Given the description of an element on the screen output the (x, y) to click on. 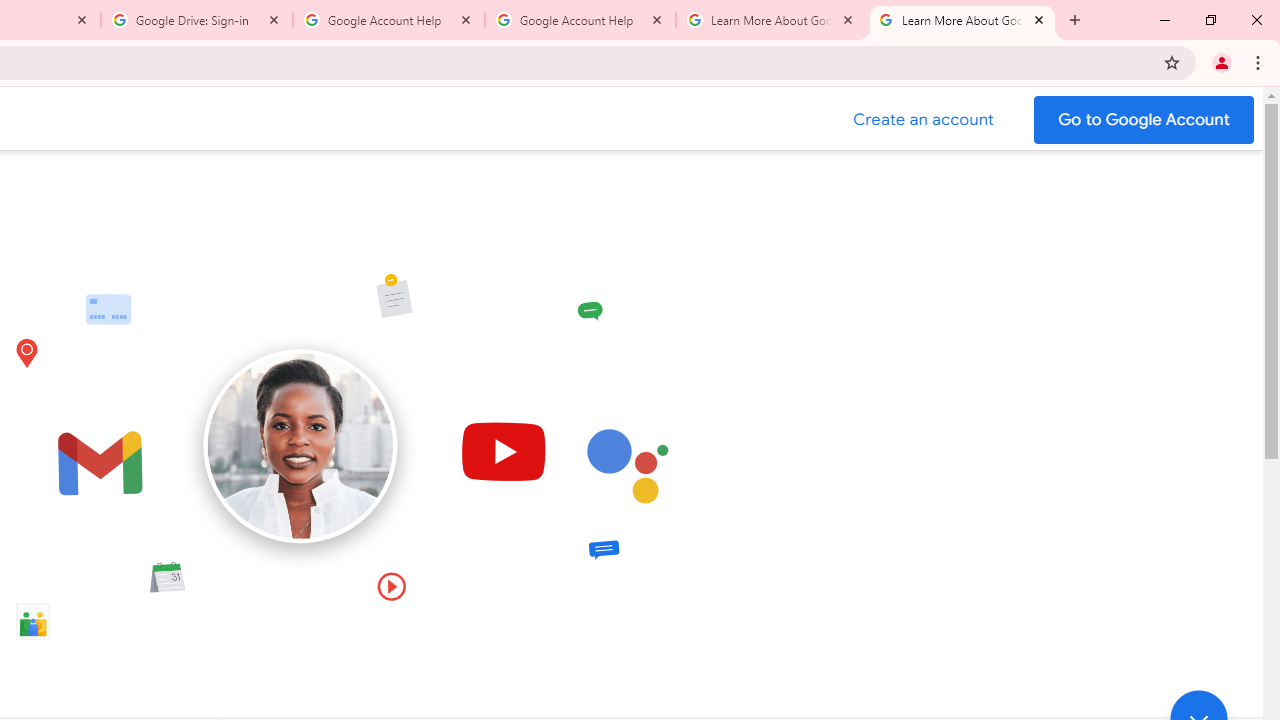
Google Drive: Sign-in (197, 20)
Google Account Help (389, 20)
Google Account Help (580, 20)
Go to your Google Account (1144, 119)
Create a Google Account (923, 119)
